Given the description of an element on the screen output the (x, y) to click on. 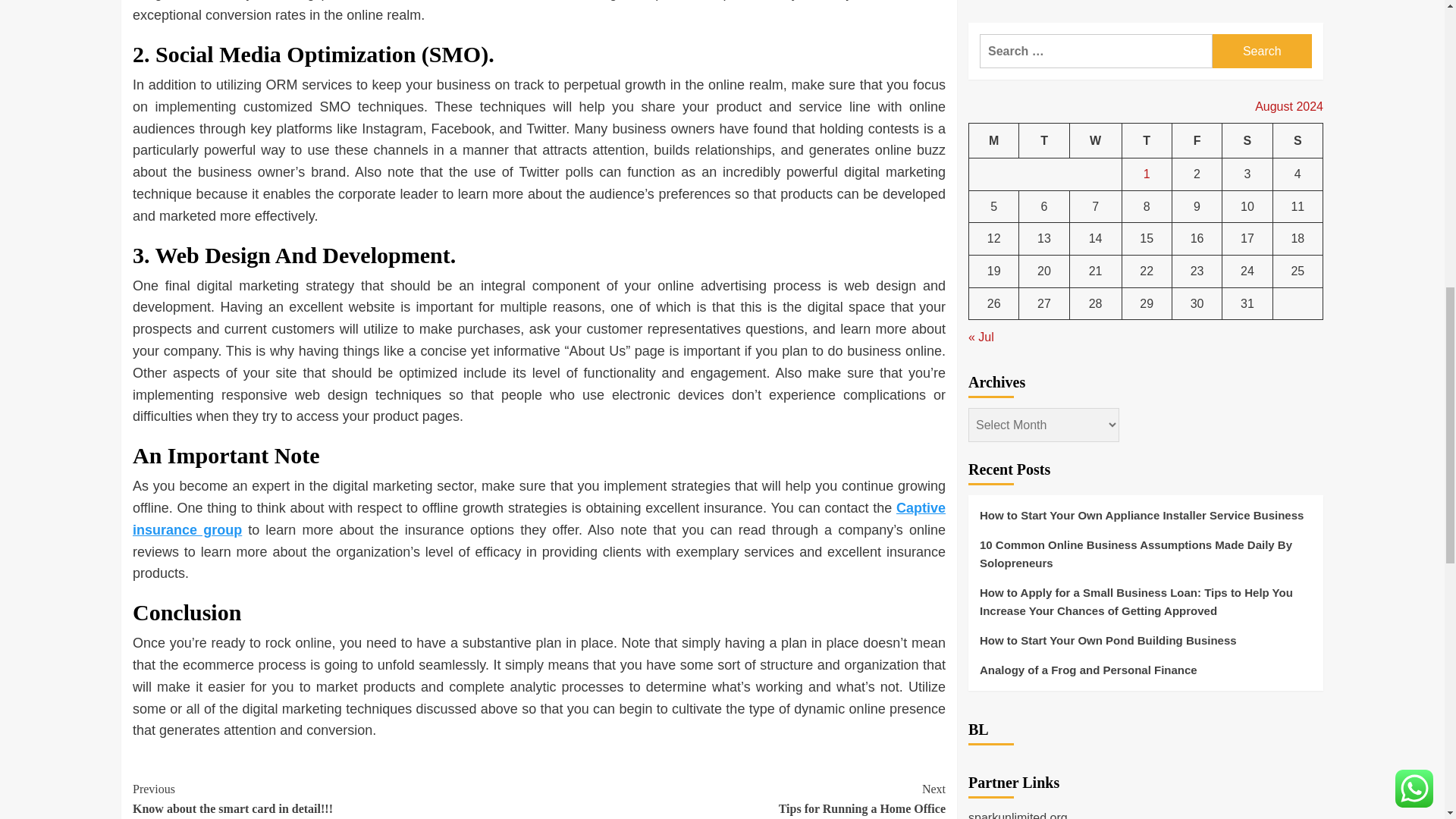
Captive insurance group (538, 518)
